Given the description of an element on the screen output the (x, y) to click on. 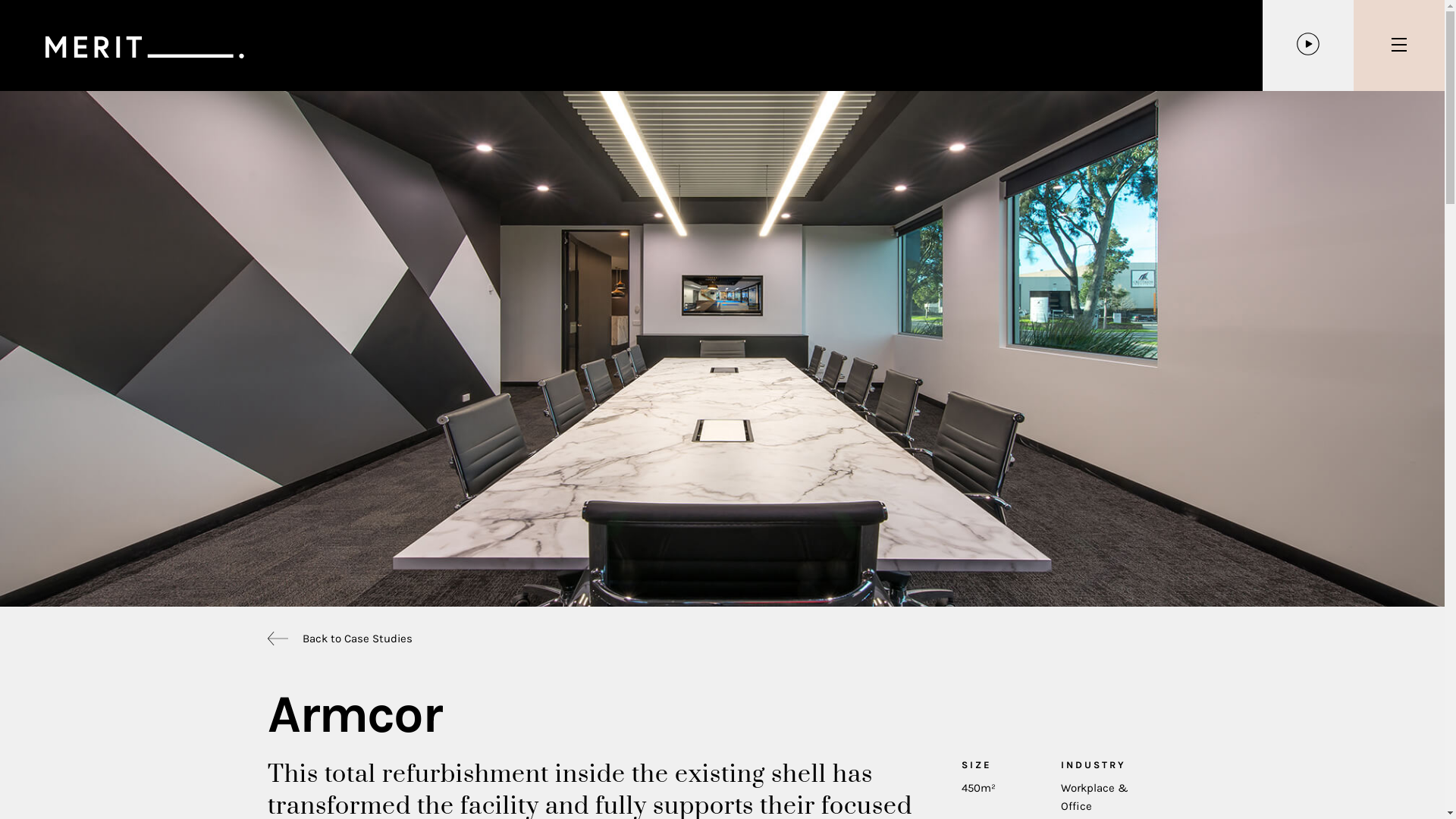
 Back to Case Studies Element type: text (355, 638)
Menu Element type: text (1398, 45)
